Given the description of an element on the screen output the (x, y) to click on. 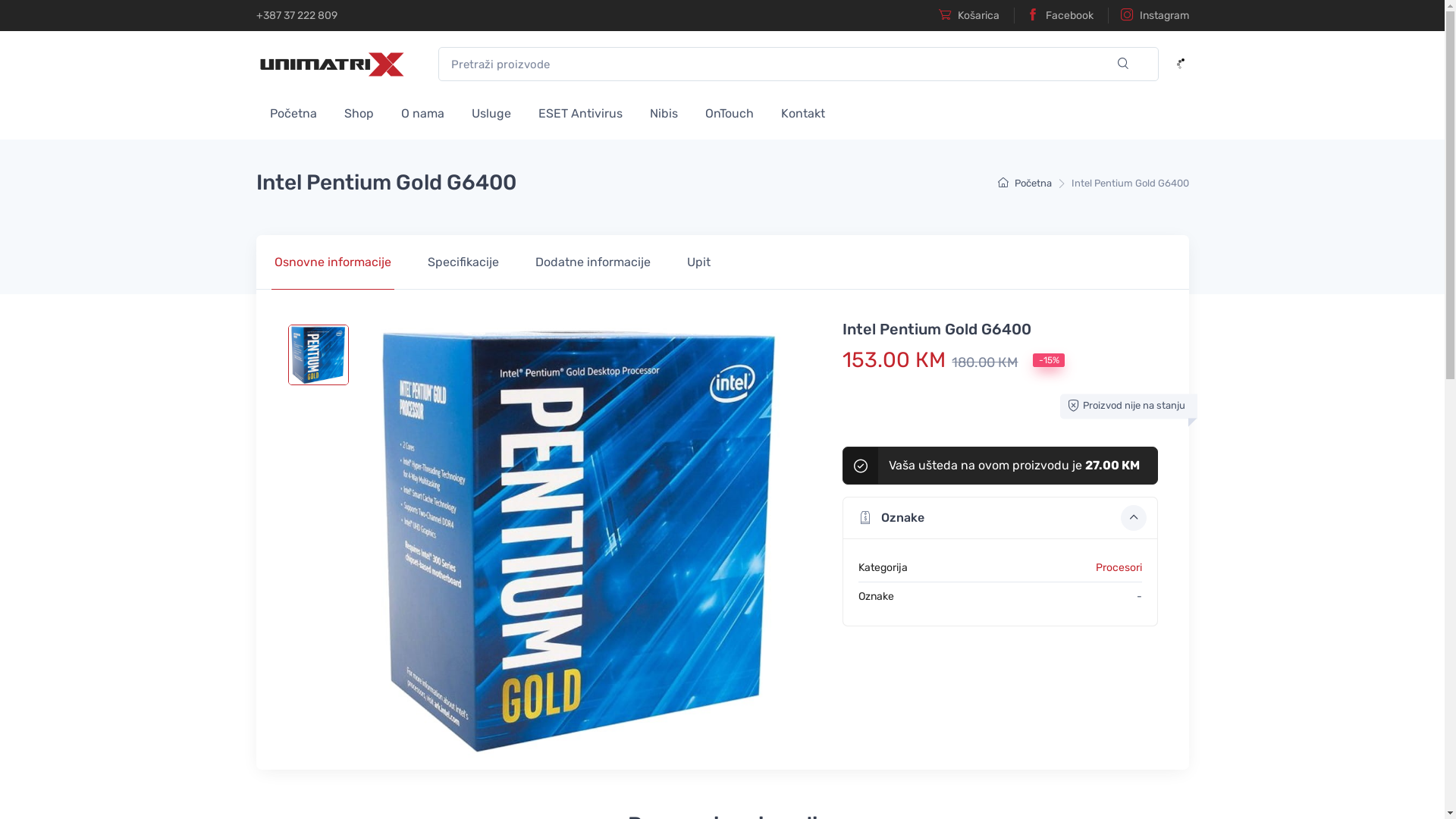
O nama Element type: text (421, 112)
Instagram Element type: text (1147, 15)
ESET Antivirus Element type: text (580, 112)
Shop Element type: text (358, 112)
Dodatne informacije Element type: text (592, 262)
OnTouch Element type: text (729, 112)
Facebook Element type: text (1052, 15)
Procesori Element type: text (1118, 567)
+387 37 222 809 Element type: text (296, 15)
Specifikacije Element type: text (463, 262)
Oznake Element type: text (1000, 517)
Kontakt Element type: text (802, 112)
Nibis Element type: text (662, 112)
Upit Element type: text (698, 262)
Osnovne informacije Element type: text (332, 262)
Usluge Element type: text (491, 112)
